Given the description of an element on the screen output the (x, y) to click on. 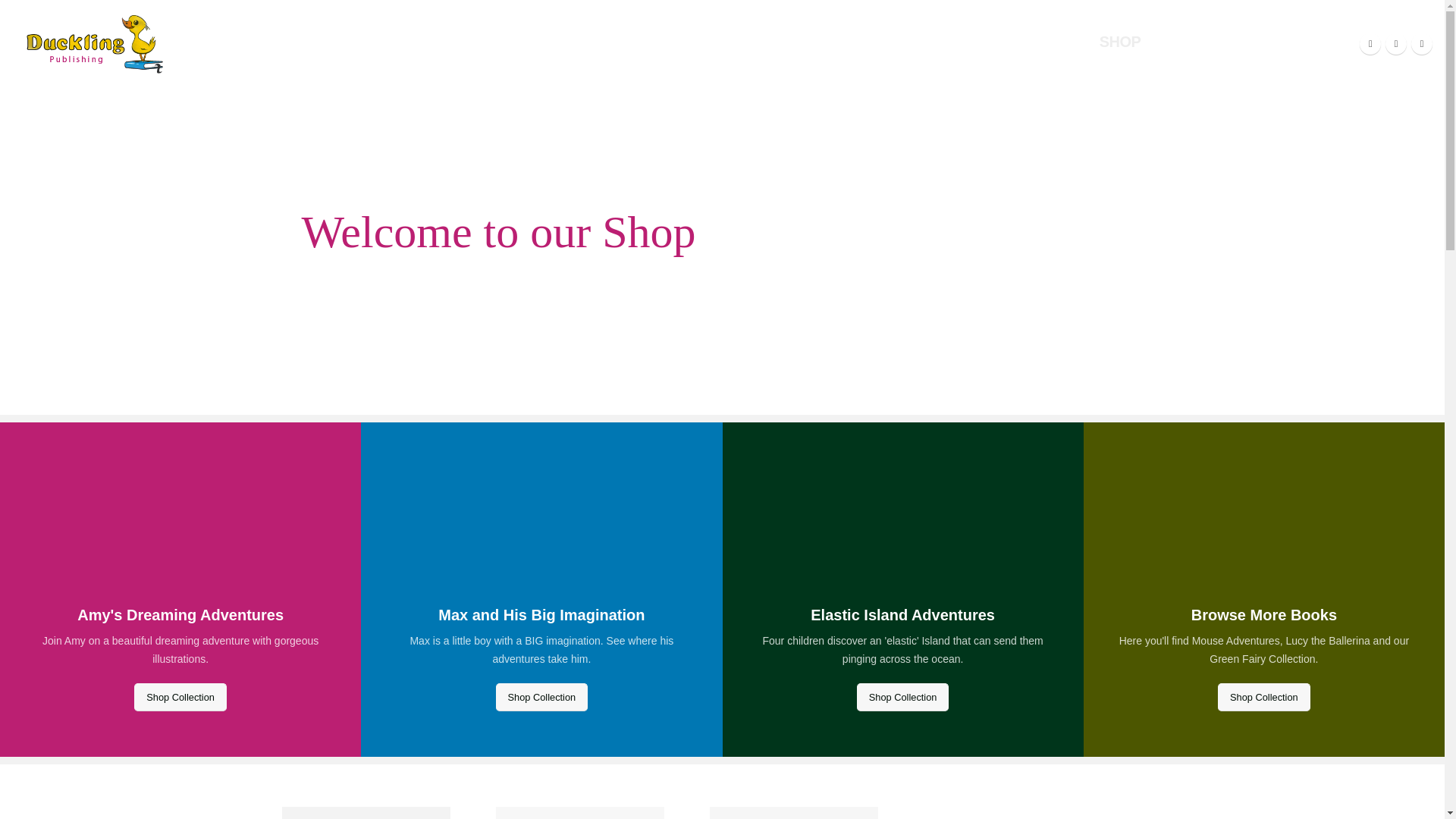
STORE (1310, 43)
Duckling Publishing Books - For Boys and Girls (94, 44)
Twitter (1396, 43)
OUR BOOKS (865, 43)
Facebook (1369, 43)
LinkedIn (1421, 43)
MEET OUR AUTHORS (719, 43)
ABOUT US (579, 43)
CONTACT US (1212, 43)
